Given the description of an element on the screen output the (x, y) to click on. 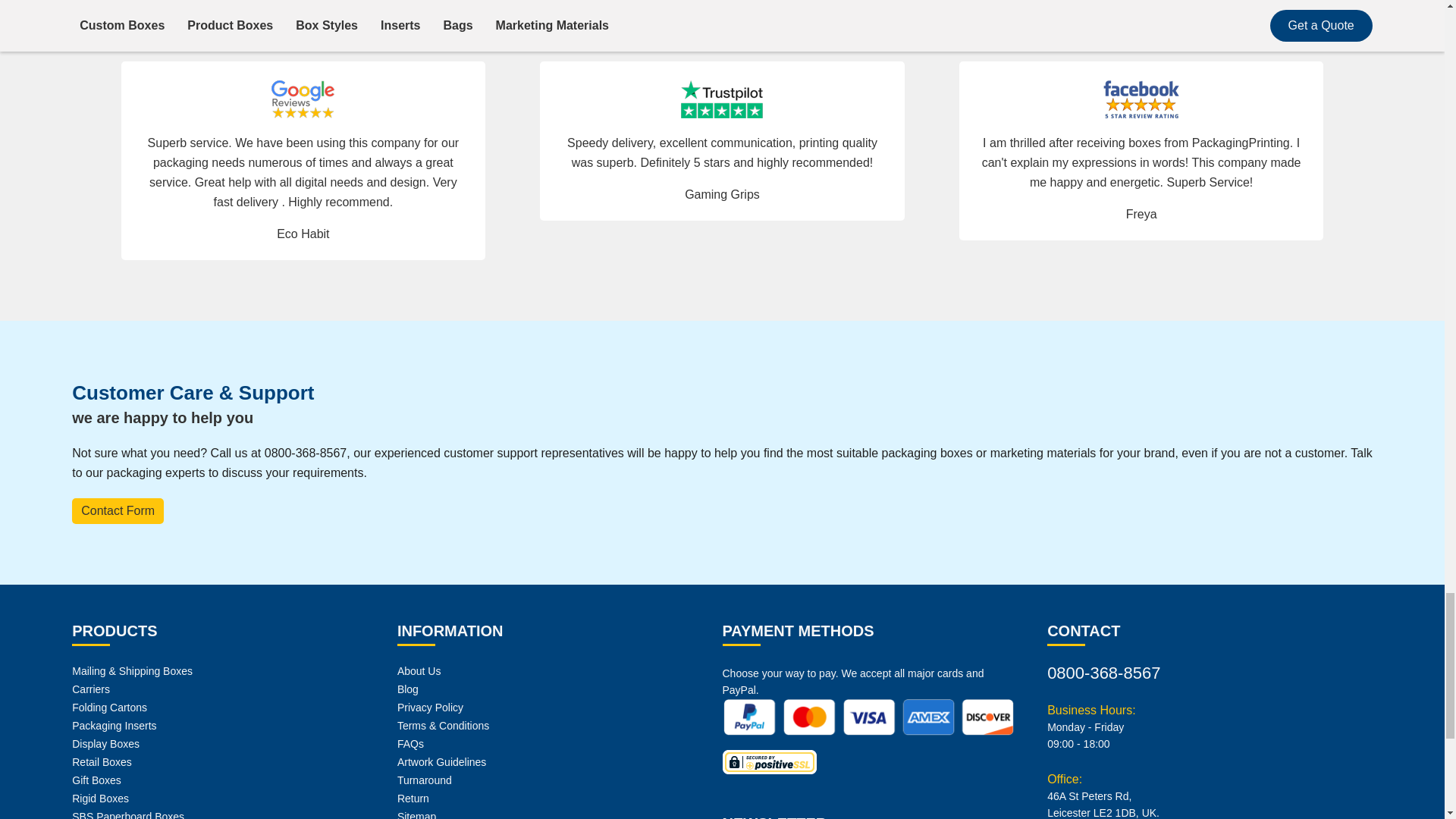
Gift Boxes (95, 779)
Contact Form (117, 510)
Carriers (90, 689)
Rigid Boxes (100, 798)
Folding Cartons (109, 707)
Packaging Inserts (113, 725)
Display Boxes (105, 743)
Retail Boxes (101, 761)
